Given the description of an element on the screen output the (x, y) to click on. 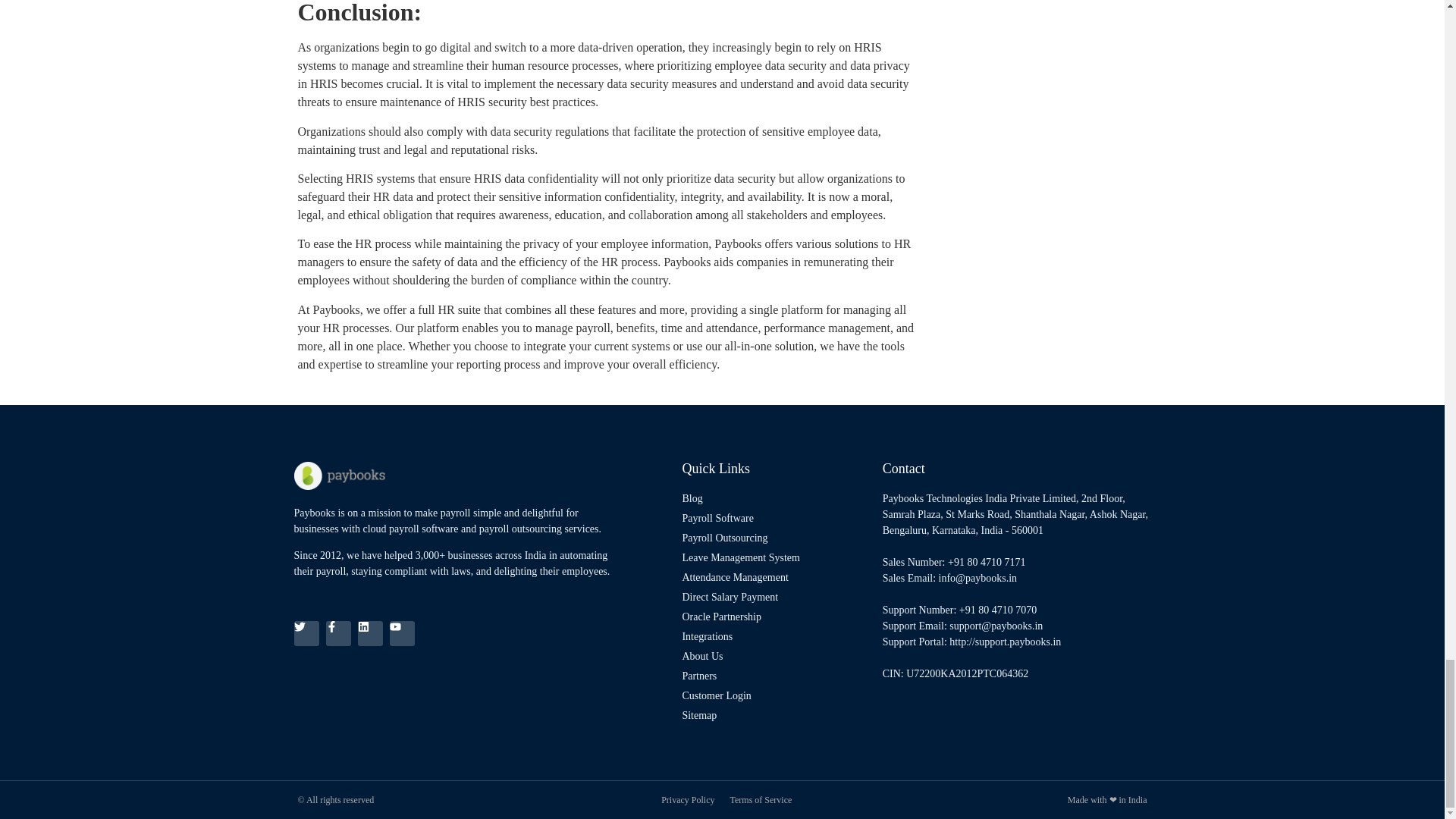
Sitemap (778, 715)
About Us (778, 656)
Integrations (778, 636)
Direct Salary Payment (778, 596)
Oracle Partnership (778, 616)
Attendance Management (778, 577)
Blog (778, 498)
Payroll Outsourcing (778, 537)
Partners (778, 675)
Payroll Software (778, 518)
Leave Management System (778, 557)
Privacy Policy (687, 799)
Customer Login (778, 695)
Terms of Service (760, 799)
